Given the description of an element on the screen output the (x, y) to click on. 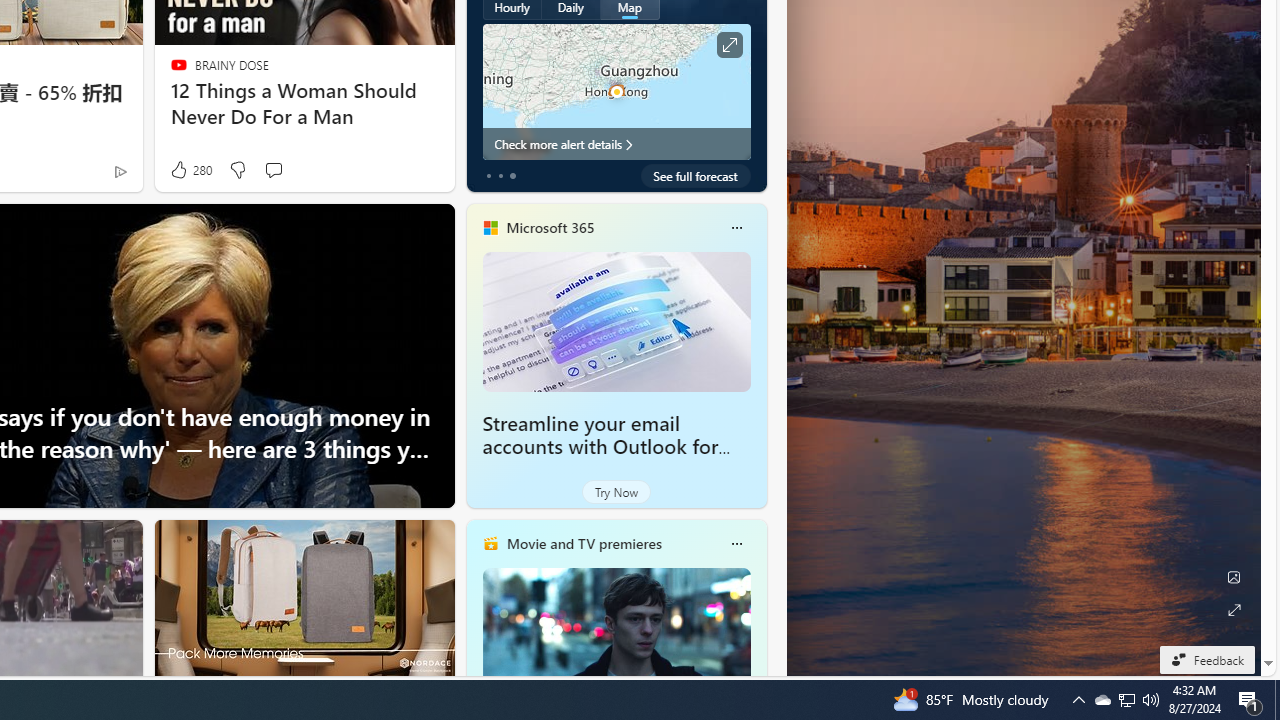
Streamline your email accounts with Outlook for Windows (600, 446)
Check more alert details (616, 143)
280 Like (190, 170)
Try Now (616, 491)
Expand background (1233, 610)
Click to see more information (728, 44)
Larger map  (616, 91)
Movie and TV premieres (583, 543)
